Given the description of an element on the screen output the (x, y) to click on. 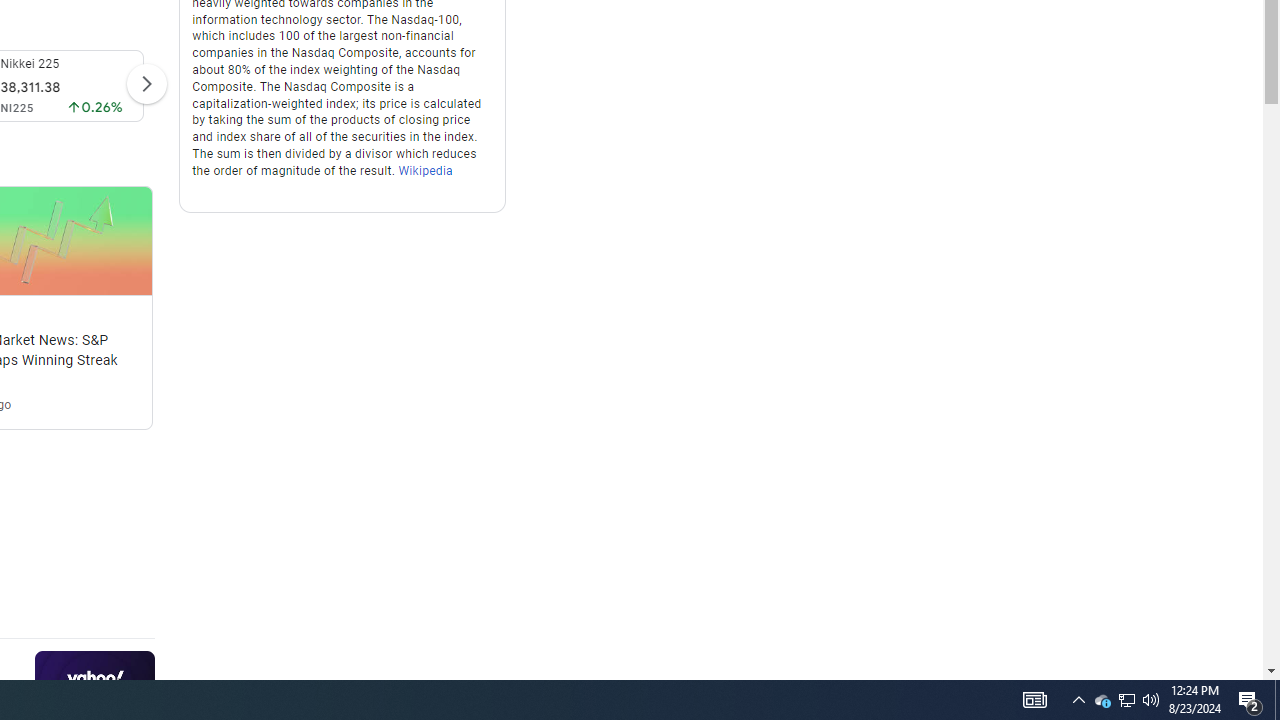
Wikipedia (425, 169)
